Given the description of an element on the screen output the (x, y) to click on. 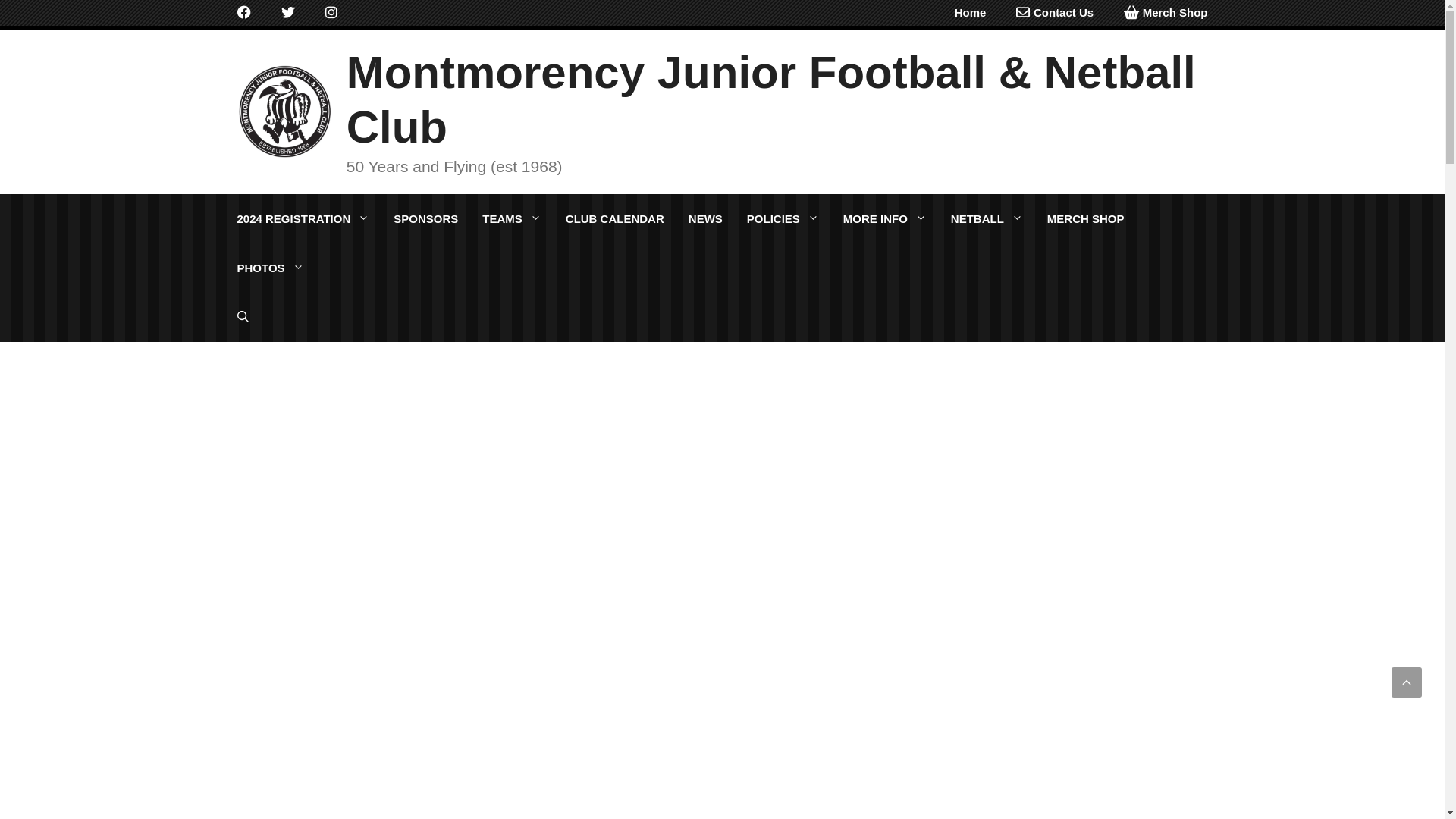
NETBALL Element type: text (986, 218)
NEWS Element type: text (705, 218)
Home Element type: text (978, 12)
Twitter Element type: hover (287, 12)
PHOTOS Element type: text (269, 266)
MERCH SHOP Element type: text (1085, 218)
Merch Shop Element type: text (1171, 12)
Facebook Element type: hover (243, 12)
Scroll back to top Element type: hover (1406, 682)
Instagram Element type: hover (330, 12)
MORE INFO Element type: text (884, 218)
Contact Us Element type: text (1065, 12)
CLUB CALENDAR Element type: text (614, 218)
Montmorency Junior Football & Netball Club Element type: text (770, 99)
TEAMS Element type: text (511, 218)
2024 REGISTRATION Element type: text (302, 218)
POLICIES Element type: text (782, 218)
SPONSORS Element type: text (425, 218)
